Given the description of an element on the screen output the (x, y) to click on. 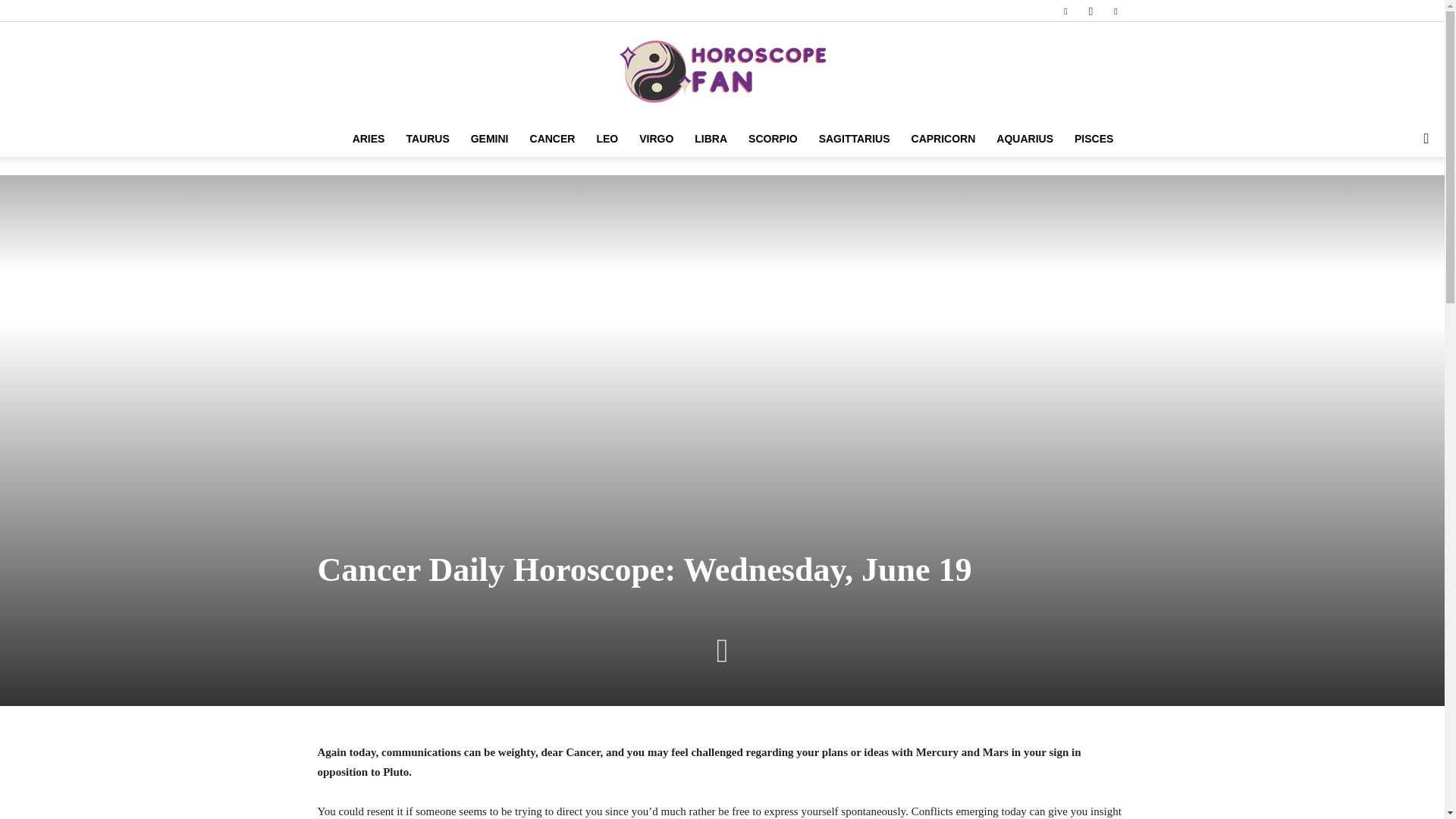
Instagram (1090, 10)
Pinterest (1114, 10)
Facebook (1065, 10)
